Given the description of an element on the screen output the (x, y) to click on. 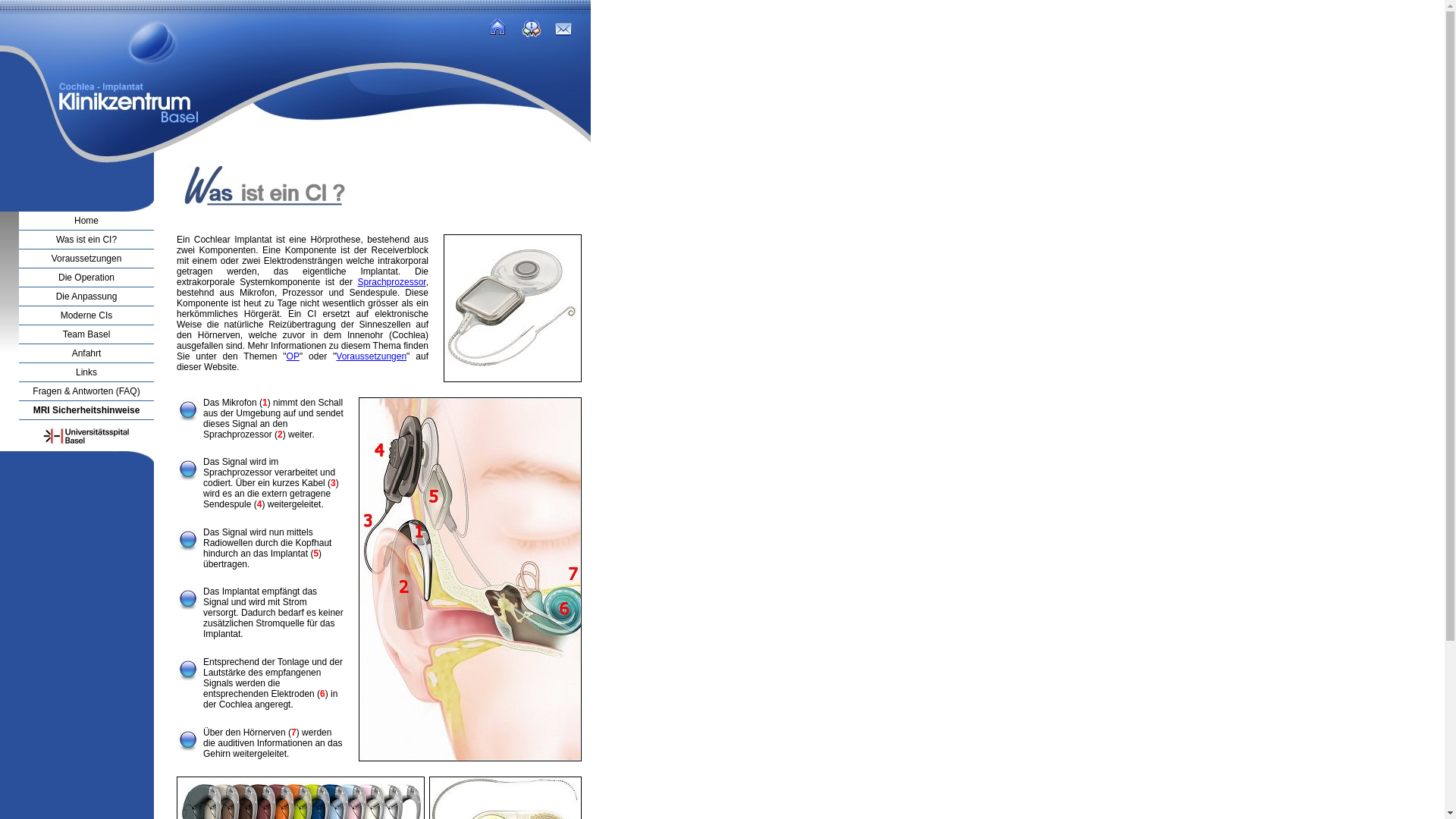
MRI Sicherheitshinweise Element type: text (86, 409)
Home Element type: text (86, 220)
Die Operation Element type: text (86, 277)
Moderne CIs Element type: text (86, 315)
Voraussetzungen Element type: text (86, 258)
Die Anpassung Element type: text (86, 296)
Team Basel Element type: text (86, 334)
Voraussetzungen Element type: text (370, 356)
Fragen & Antworten (FAQ) Element type: text (85, 390)
OP Element type: text (292, 356)
Anfahrt Element type: text (86, 353)
Was ist ein CI? Element type: text (86, 239)
Links Element type: text (86, 372)
Sprachprozessor Element type: text (391, 281)
